Given the description of an element on the screen output the (x, y) to click on. 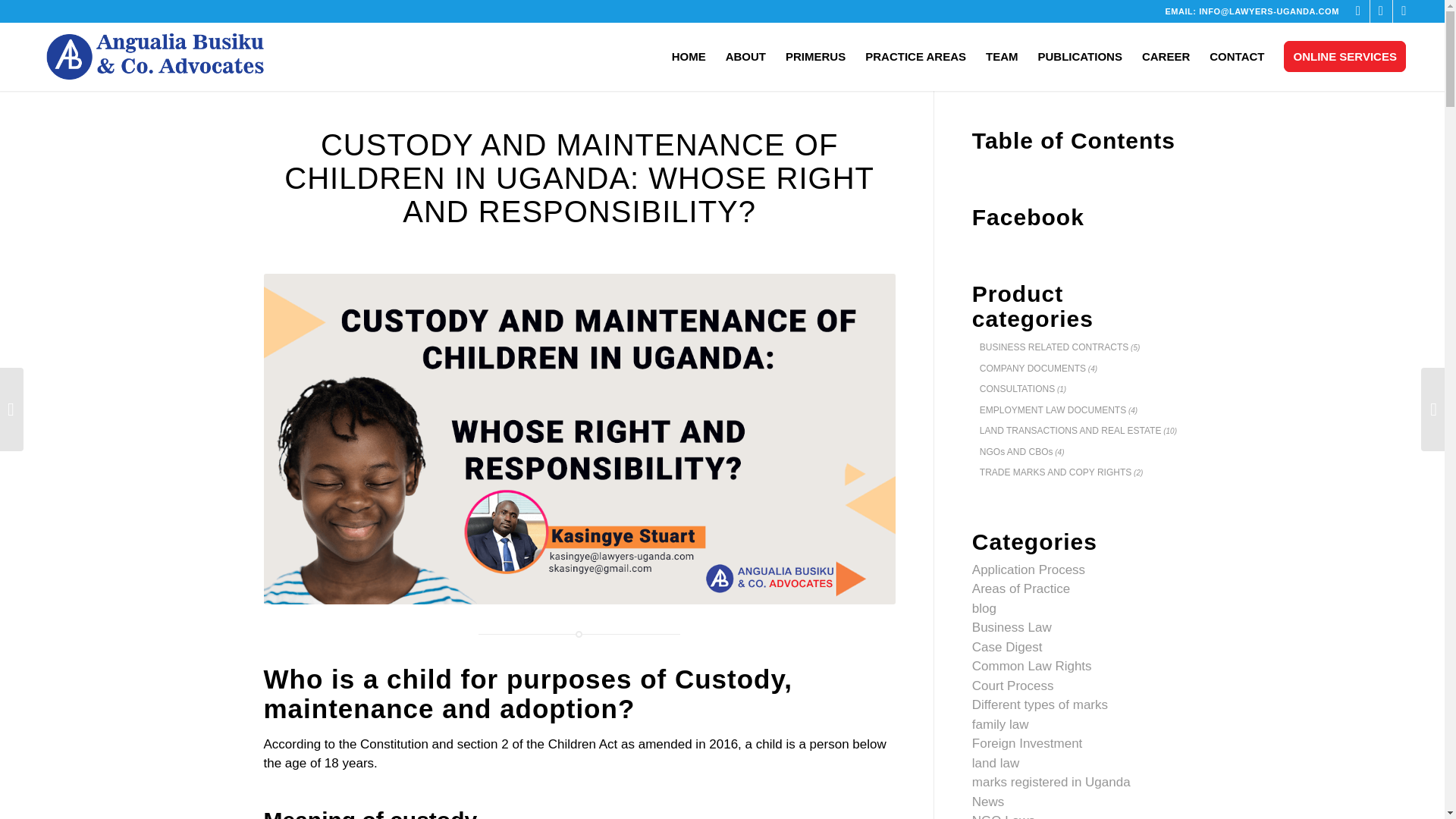
Common Law Rights (1032, 666)
blog (983, 607)
LAND TRANSACTIONS AND REAL ESTATE (1066, 430)
LinkedIn (1404, 11)
Different types of marks (1040, 704)
ONLINE SERVICES (1344, 56)
PRACTICE AREAS (915, 56)
EMPLOYMENT LAW DOCUMENTS (1048, 409)
Case Digest (1007, 646)
